Given the description of an element on the screen output the (x, y) to click on. 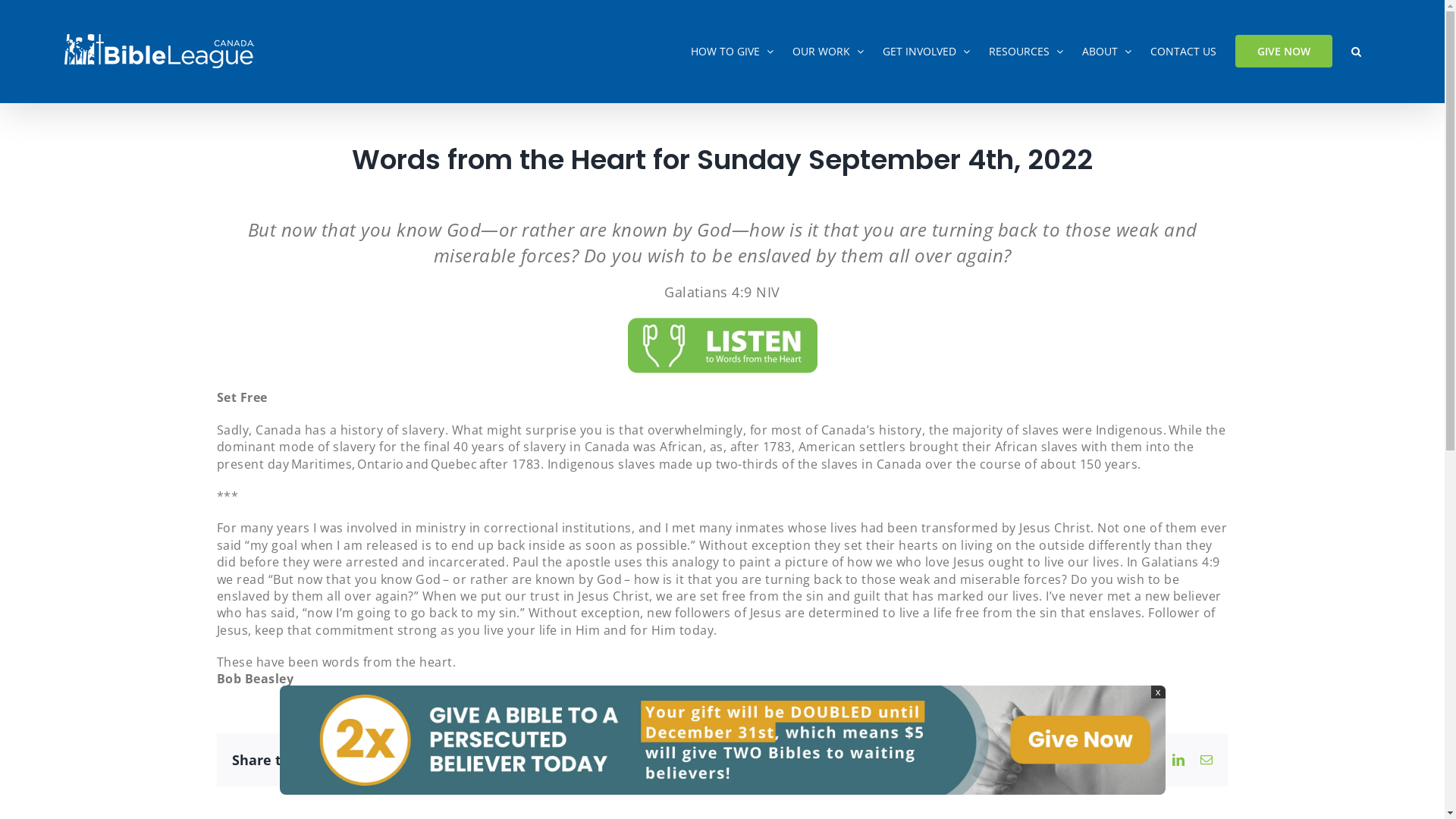
Facebook Element type: text (1123, 759)
RESOURCES Element type: text (1025, 51)
GIVE NOW Element type: text (1283, 51)
Twitter Element type: text (1151, 759)
OUR WORK Element type: text (827, 51)
HOW TO GIVE Element type: text (731, 51)
Search Element type: hover (1356, 51)
GET INVOLVED Element type: text (925, 51)
LinkedIn Element type: text (1178, 759)
x Element type: text (1158, 691)
CONTACT US Element type: text (1183, 51)
Email Element type: text (1206, 759)
ABOUT Element type: text (1106, 51)
